Given the description of an element on the screen output the (x, y) to click on. 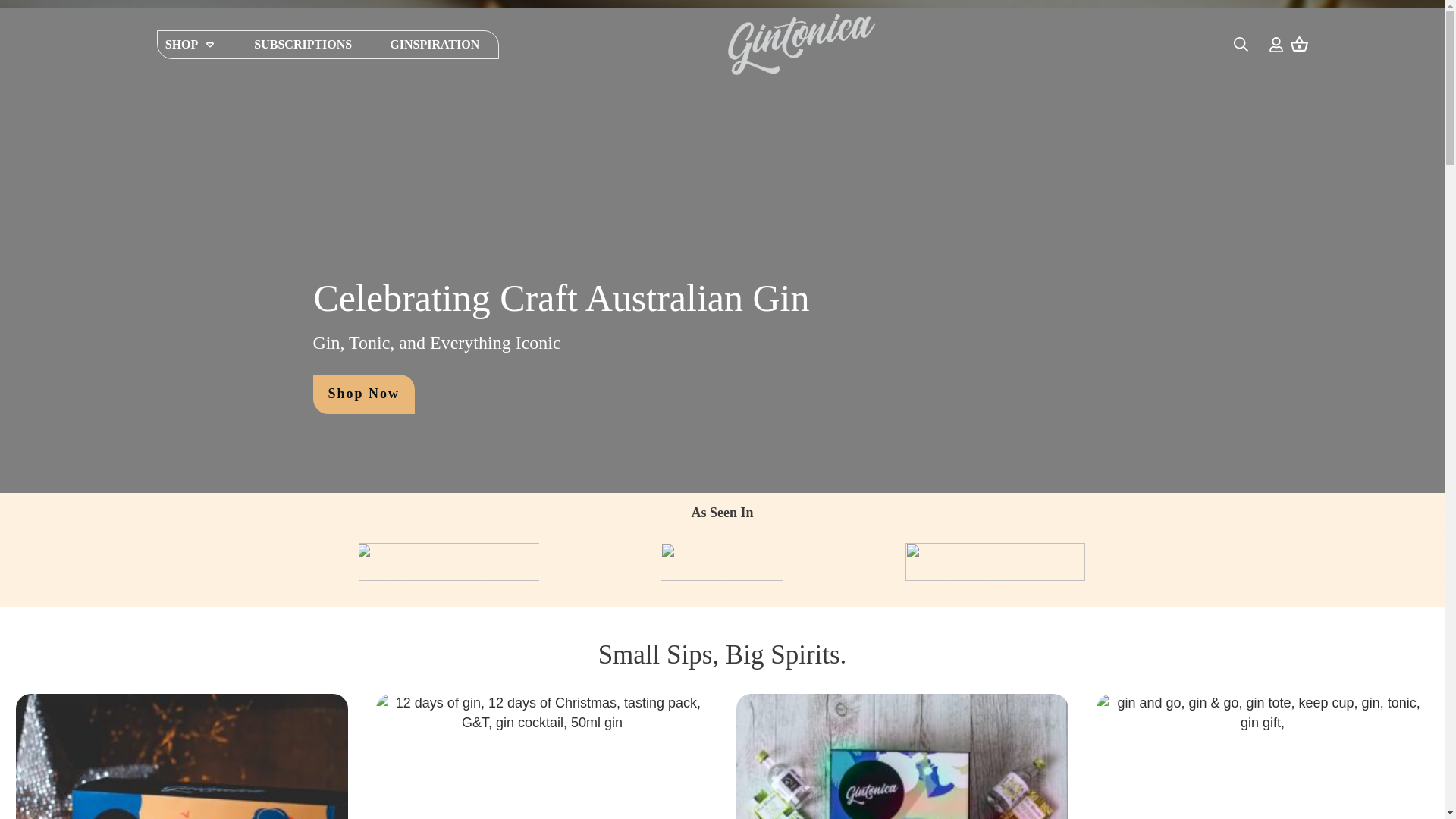
GINSPIRATION (434, 43)
Shop Now (363, 394)
SUBSCRIPTIONS (302, 43)
1 (994, 561)
SHOP (190, 43)
3-1 (447, 561)
2-1 (722, 561)
